Given the description of an element on the screen output the (x, y) to click on. 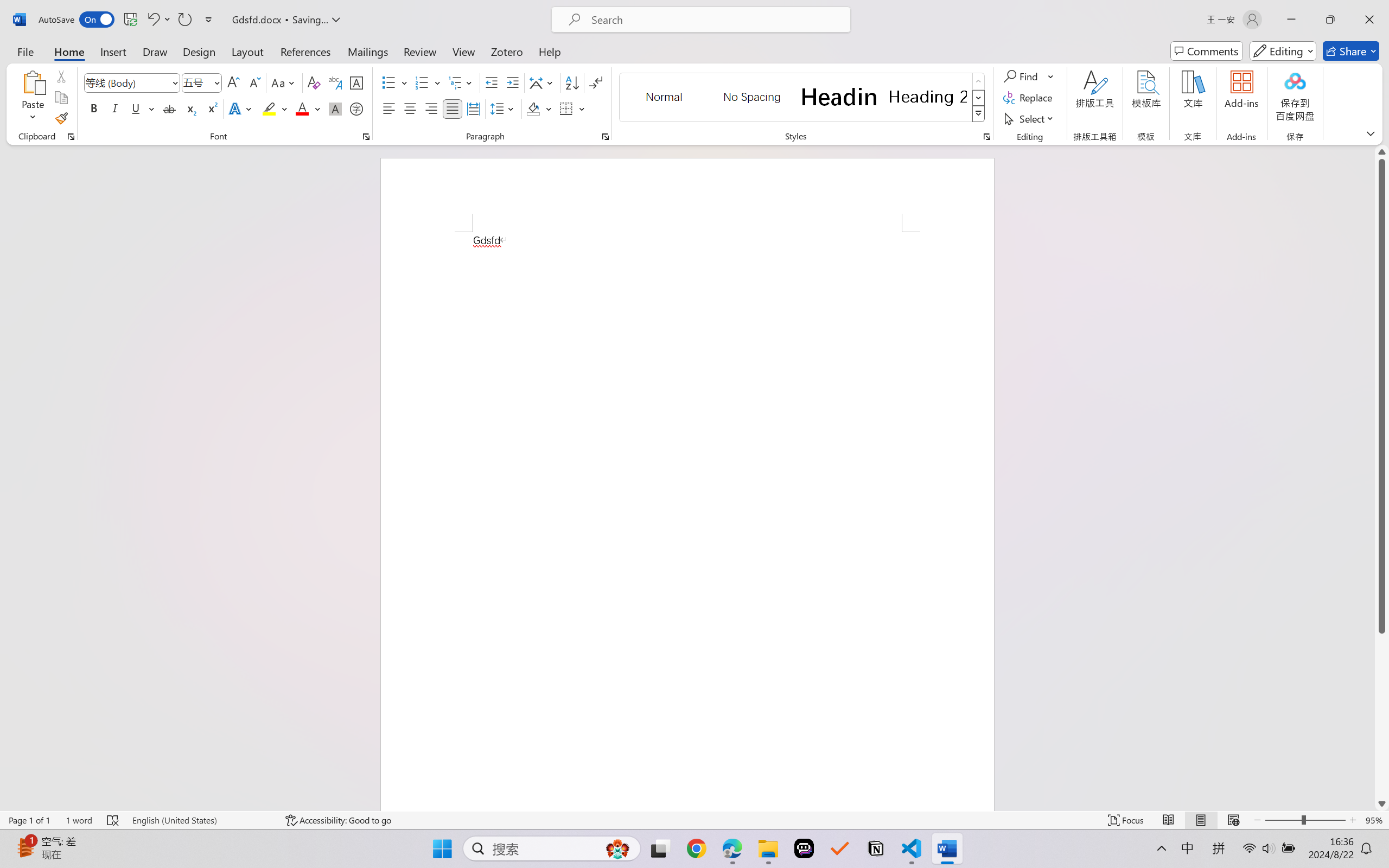
Format Painter (60, 118)
Page down (1382, 714)
Text Highlight Color (274, 108)
Row Down (978, 97)
Decrease Indent (491, 82)
Align Right (431, 108)
Sort... (571, 82)
Line and Paragraph Spacing (503, 108)
Font Color (308, 108)
